Given the description of an element on the screen output the (x, y) to click on. 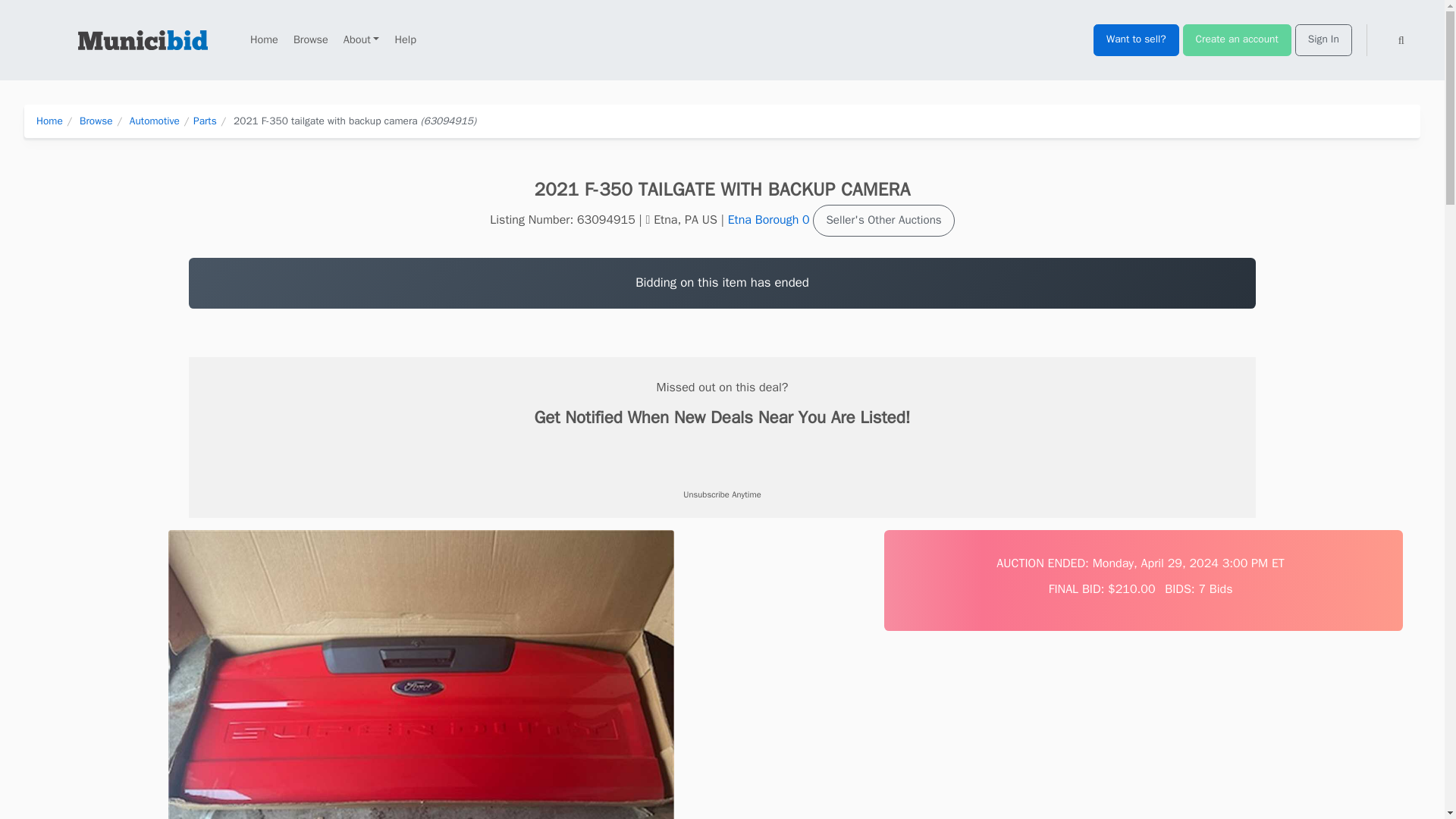
Want to sell? (1136, 40)
Home (264, 39)
About (361, 39)
Help (405, 39)
Browse (310, 39)
Create an account (1236, 40)
Sign In (1323, 40)
DNM - Closed Item Final (721, 457)
